Given the description of an element on the screen output the (x, y) to click on. 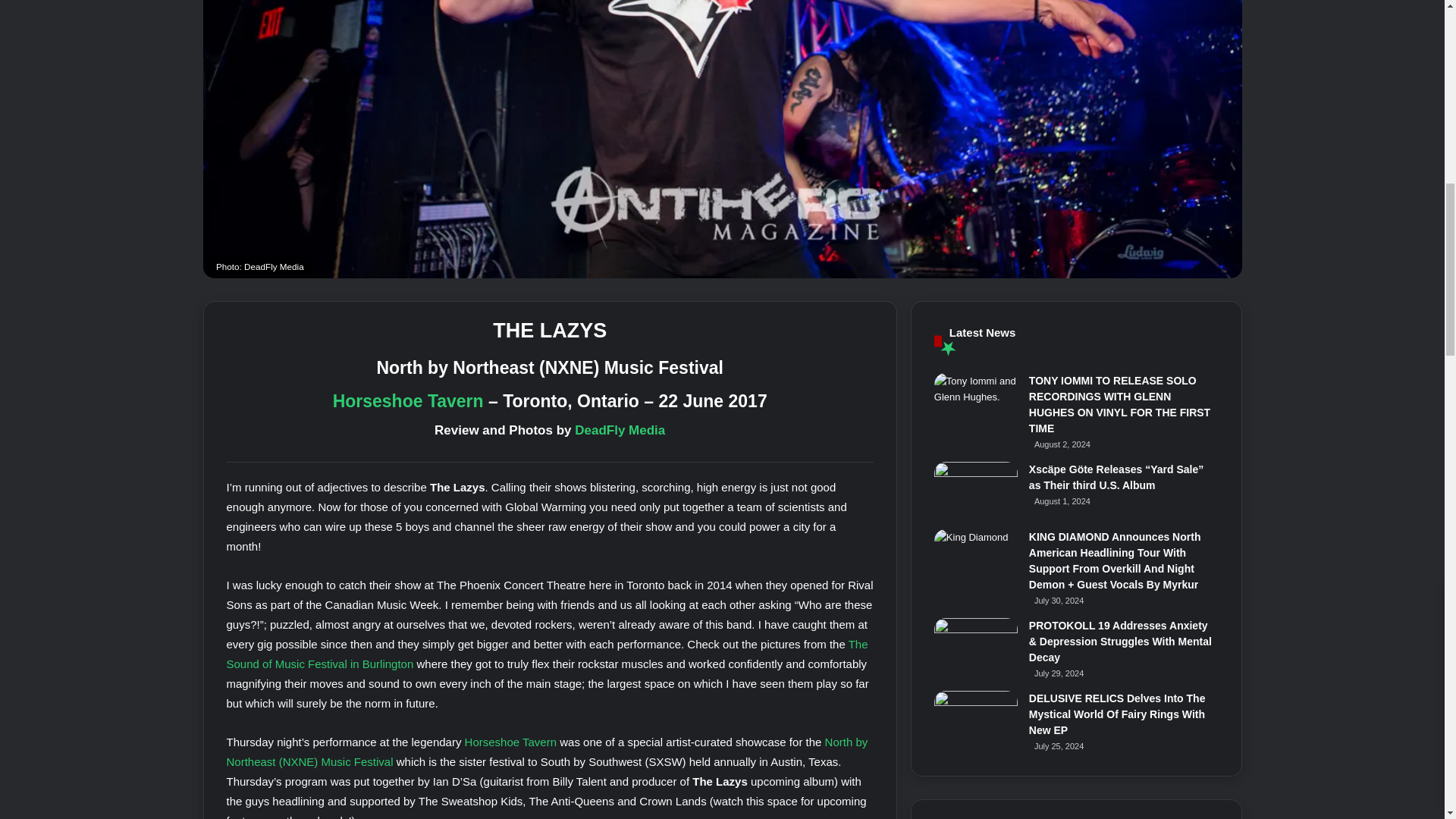
Horseshoe Tavern (510, 741)
Horseshoe Tavern (408, 401)
DeadFly Media (620, 430)
The Sound of Music Festival in Burlington (546, 654)
DeadFly Media (620, 430)
